Given the description of an element on the screen output the (x, y) to click on. 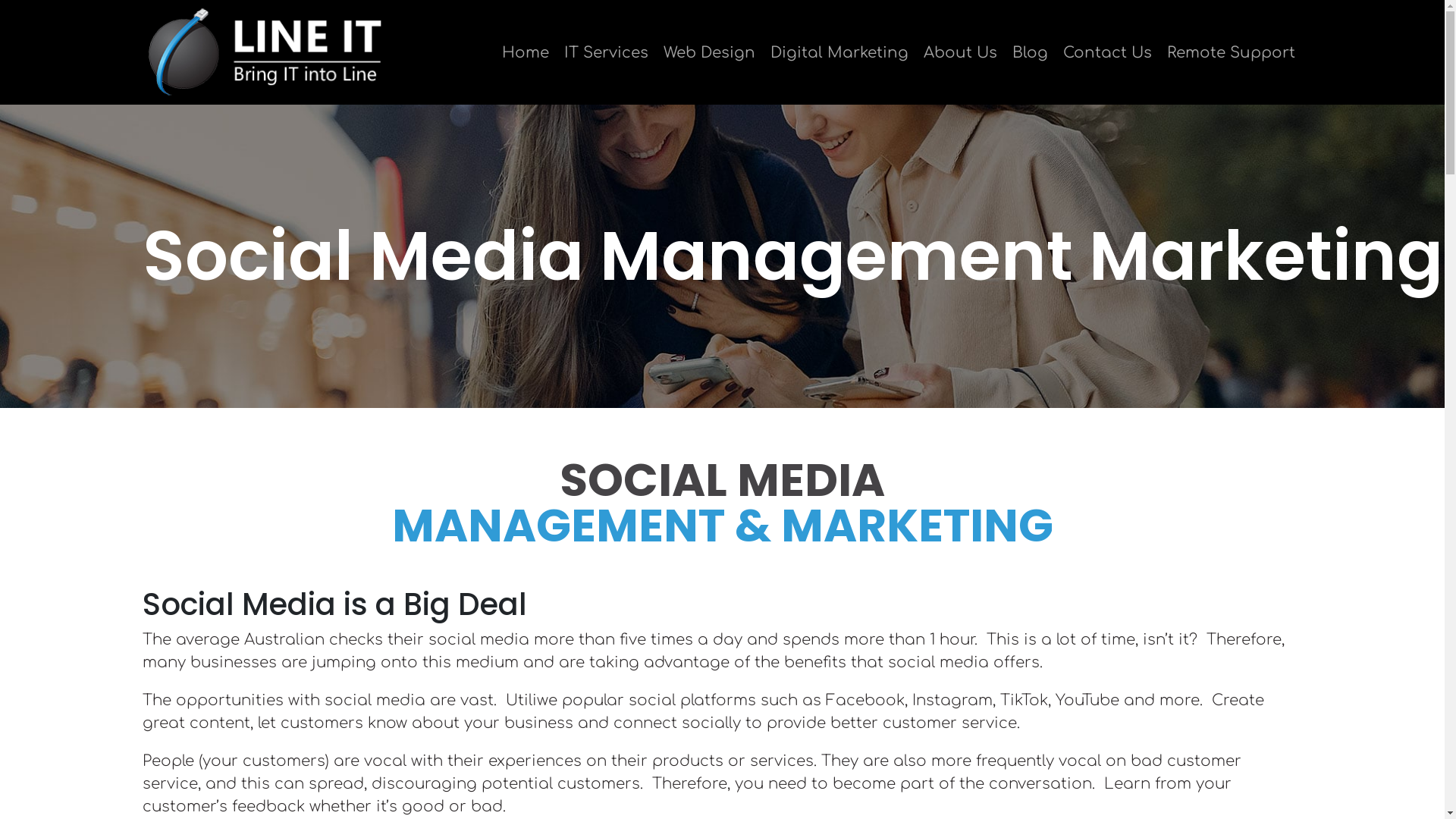
Remote Support Element type: text (1230, 52)
Web Design Element type: text (708, 52)
About Us Element type: text (960, 52)
IT Services Element type: text (605, 52)
Blog Element type: text (1029, 52)
Home Element type: text (525, 52)
Contact Us Element type: text (1107, 52)
Digital Marketing Element type: text (839, 52)
